Given the description of an element on the screen output the (x, y) to click on. 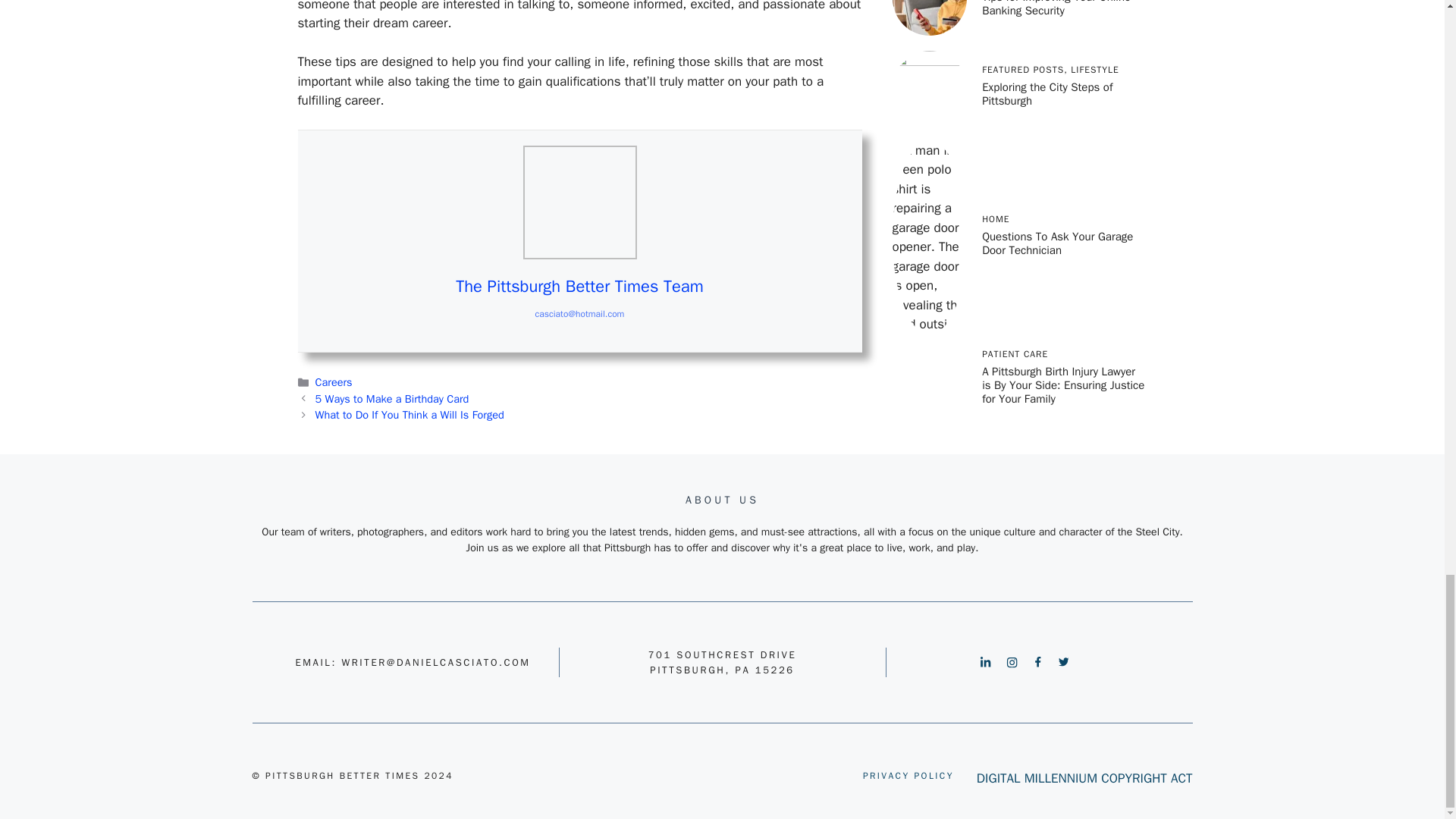
How to Work Towards a Fulfilling Career 1 (579, 202)
5 Ways to Make a Birthday Card (391, 398)
The Pittsburgh Better Times Team (579, 286)
Careers (333, 382)
What to Do If You Think a Will Is Forged (409, 414)
